Given the description of an element on the screen output the (x, y) to click on. 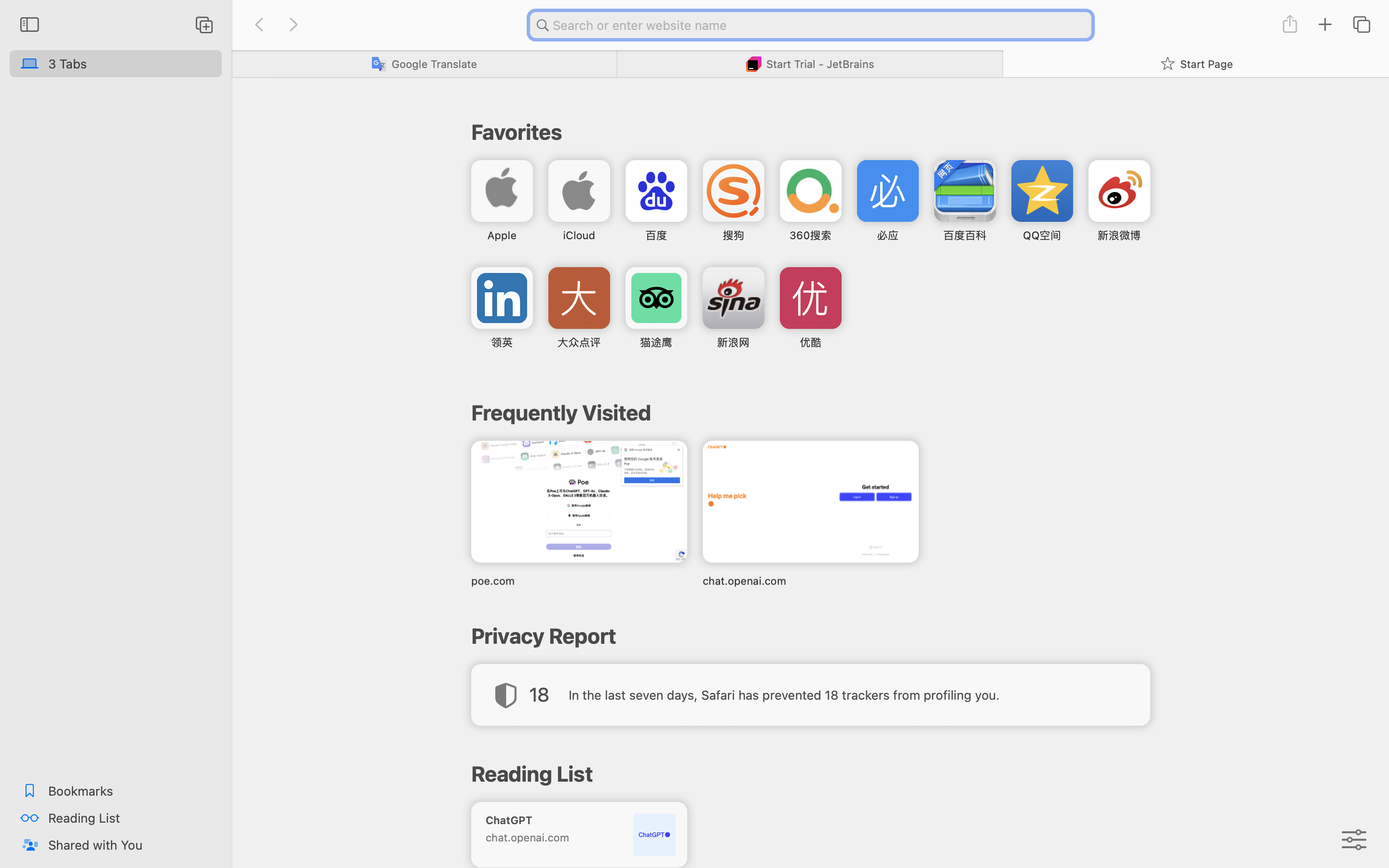
ChatGPT chat.openai.com Element type: AXButton (578, 834)
搜狗 Element type: AXButton (732, 235)
